Given the description of an element on the screen output the (x, y) to click on. 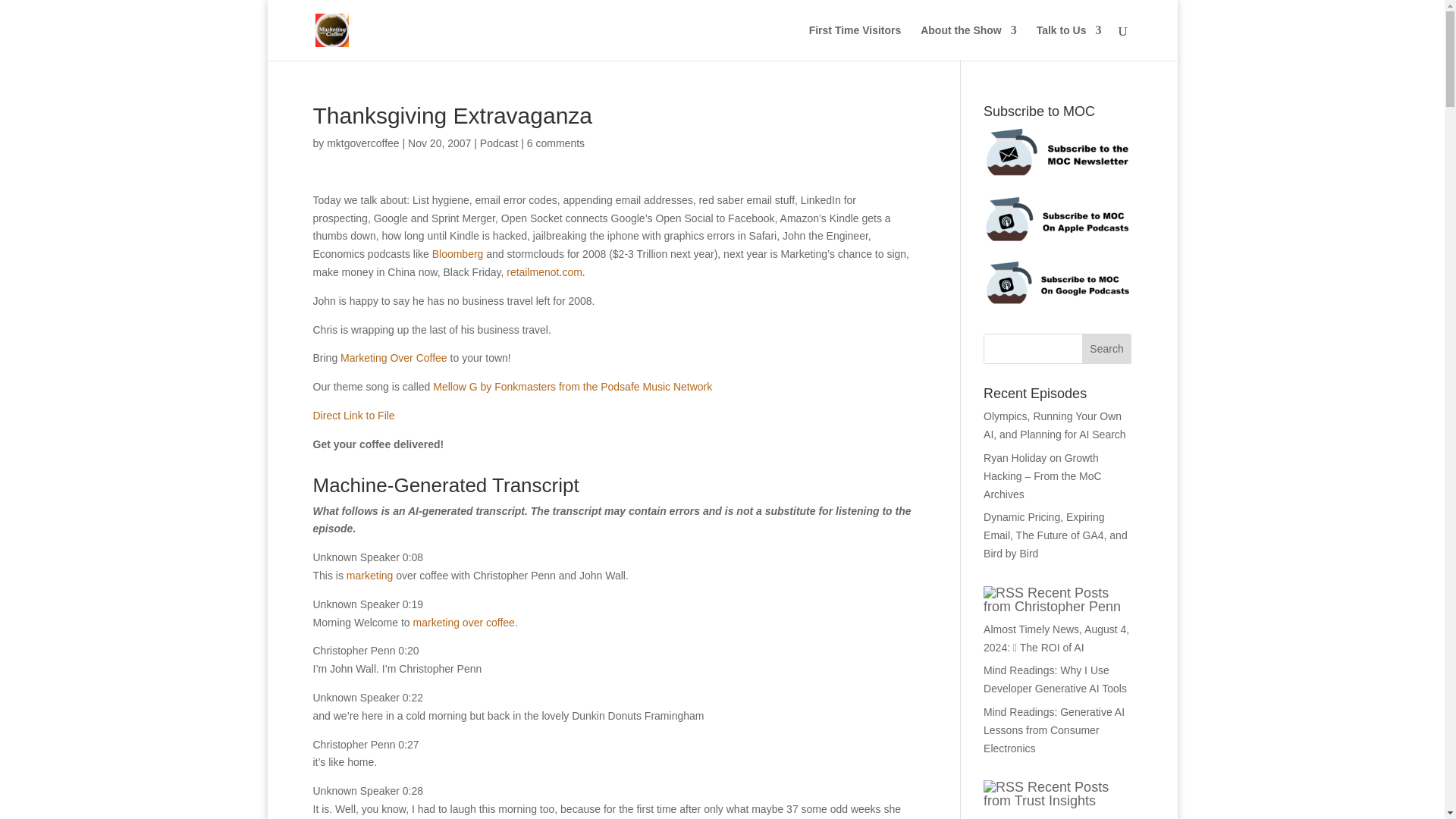
Search (1106, 348)
Posts by mktgovercoffee (362, 143)
About the Show (968, 42)
Marketing Over Coffee (393, 357)
6 comments (556, 143)
Search (1106, 348)
Direct Link to File (353, 415)
Bloomberg (457, 254)
marketing over coffee (464, 622)
mktgovercoffee (362, 143)
Olympics, Running Your Own AI, and Planning for AI Search (1054, 425)
Mellow G by Fonkmasters from the Podsafe Music Network (571, 386)
Podcast (499, 143)
retailmenot.com (544, 272)
Talk to Us (1069, 42)
